Given the description of an element on the screen output the (x, y) to click on. 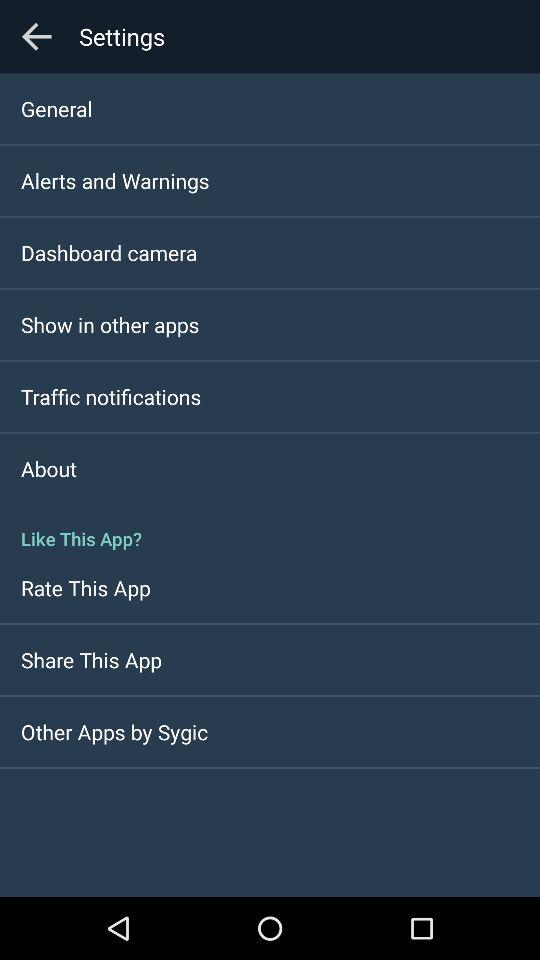
flip to the dashboard camera (109, 252)
